Given the description of an element on the screen output the (x, y) to click on. 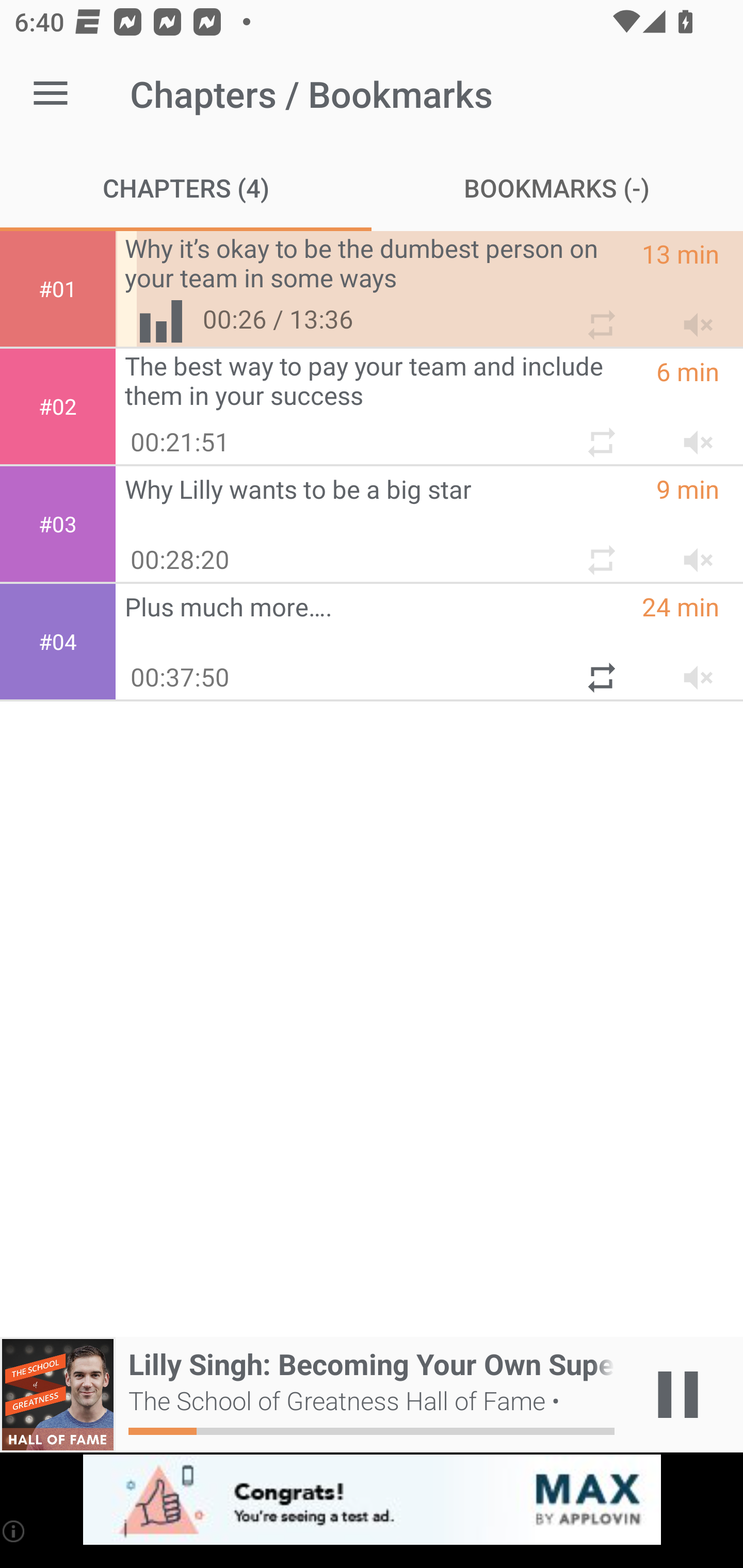
Open navigation sidebar (50, 93)
Bookmarks (-) BOOKMARKS (-) (557, 187)
Repeat chapter (599, 317)
Mute chapter (692, 317)
Repeat chapter (599, 435)
Mute chapter (692, 435)
Repeat chapter (599, 552)
Mute chapter (692, 552)
Repeat chapter (599, 670)
Mute chapter (692, 670)
Play / Pause (677, 1394)
app-monetization (371, 1500)
(i) (14, 1531)
